Given the description of an element on the screen output the (x, y) to click on. 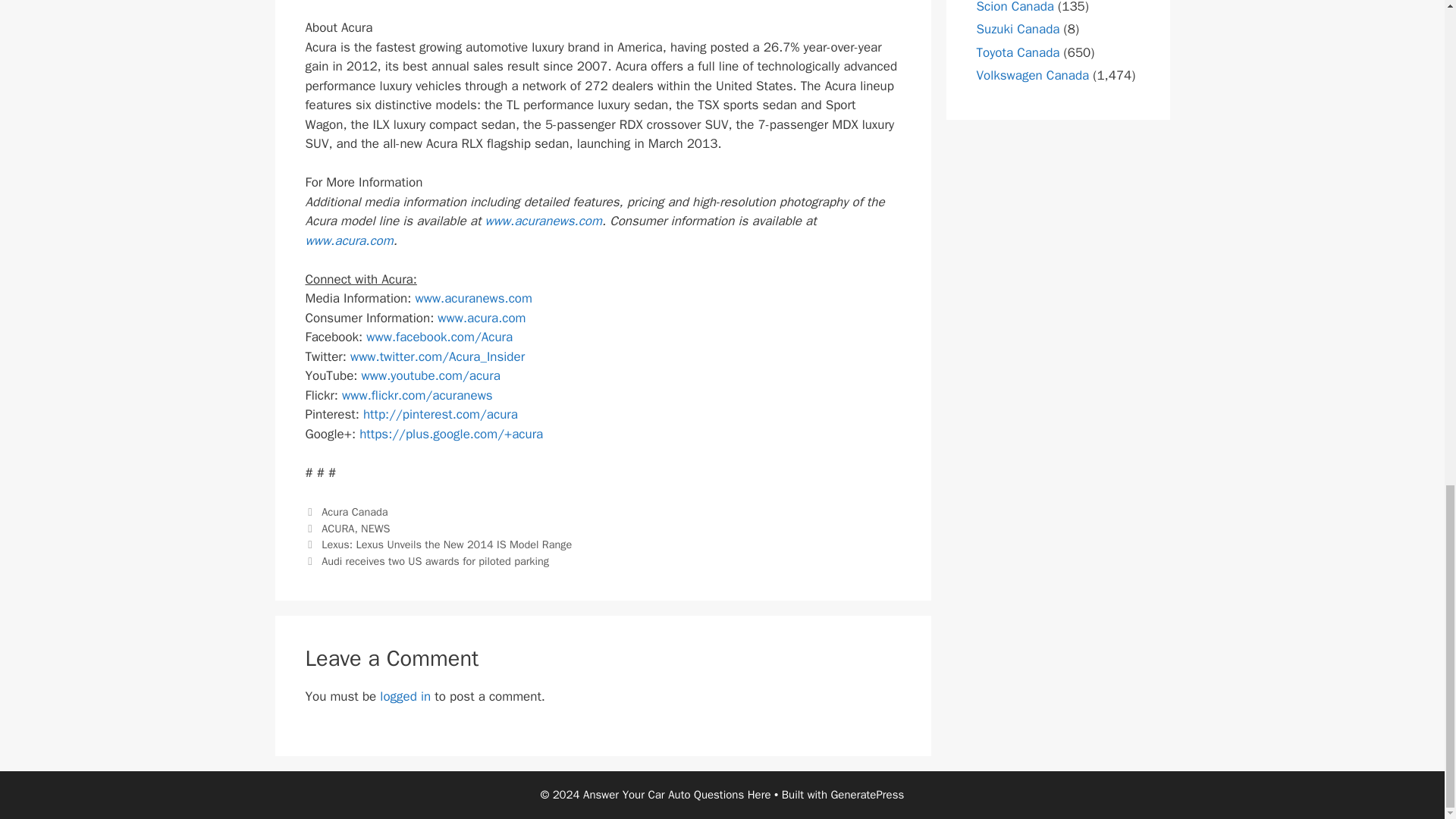
www.acura.com (348, 240)
Acura Canada (354, 511)
Lexus: Lexus Unveils the New 2014 IS Model Range (446, 544)
www.acura.com (481, 317)
logged in (405, 696)
ACURA (337, 528)
Scroll back to top (1406, 335)
www.acuranews.com (543, 220)
www.acuranews.com (473, 298)
NEWS (375, 528)
Audi receives two US awards for piloted parking (434, 561)
